Given the description of an element on the screen output the (x, y) to click on. 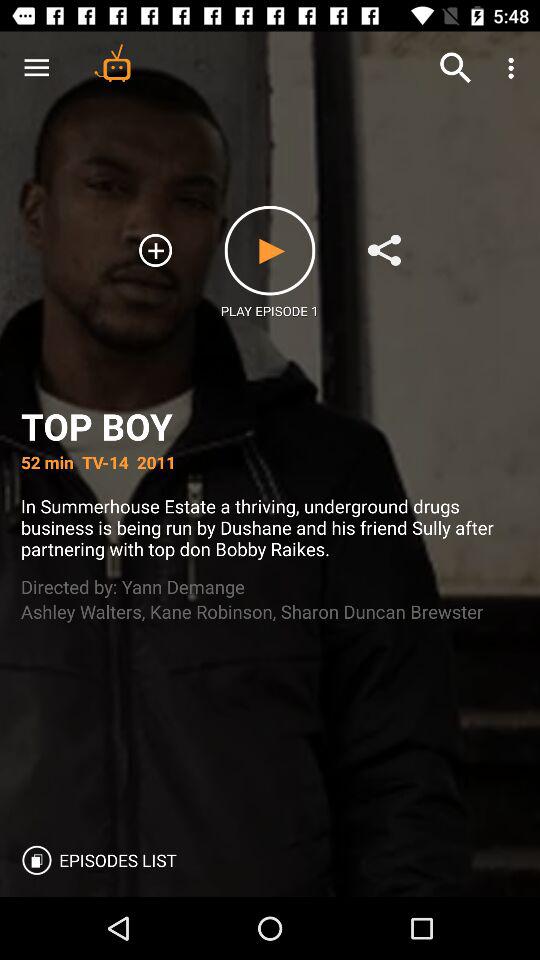
add to watchlist (155, 250)
